Given the description of an element on the screen output the (x, y) to click on. 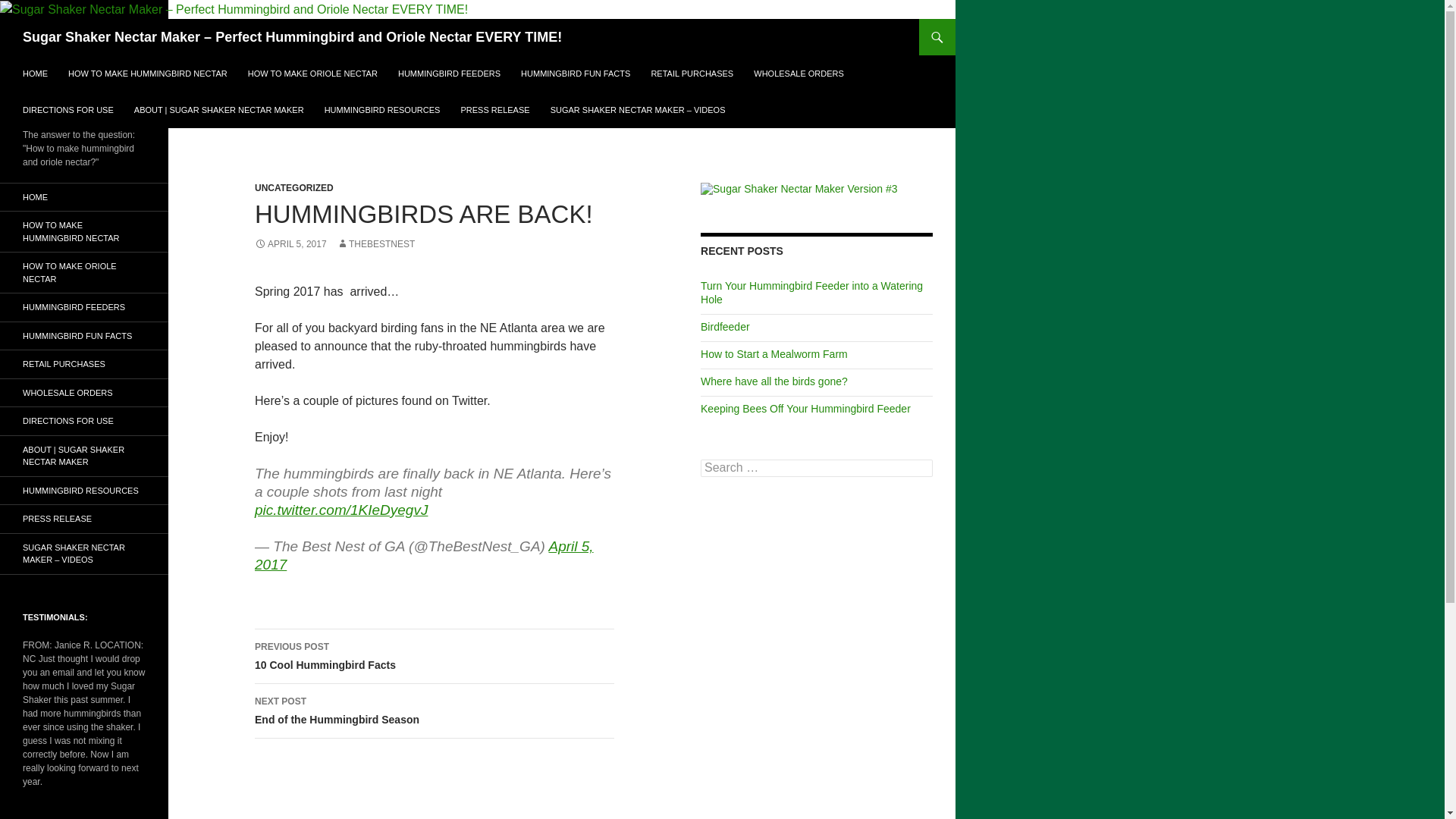
HUMMINGBIRD FUN FACTS (575, 73)
HOME (34, 73)
Turn Your Hummingbird Feeder into a Watering Hole (811, 292)
WHOLESALE ORDERS (798, 73)
APRIL 5, 2017 (290, 244)
HUMMINGBIRD RESOURCES (382, 109)
How to Start a Mealworm Farm (773, 354)
DIRECTIONS FOR USE (67, 109)
Keeping Bees Off Your Hummingbird Feeder (805, 408)
HOW TO MAKE ORIOLE NECTAR (84, 272)
Search (30, 8)
HUMMINGBIRD FUN FACTS (84, 336)
HOME (434, 656)
HOW TO MAKE HUMMINGBIRD NECTAR (84, 197)
